Given the description of an element on the screen output the (x, y) to click on. 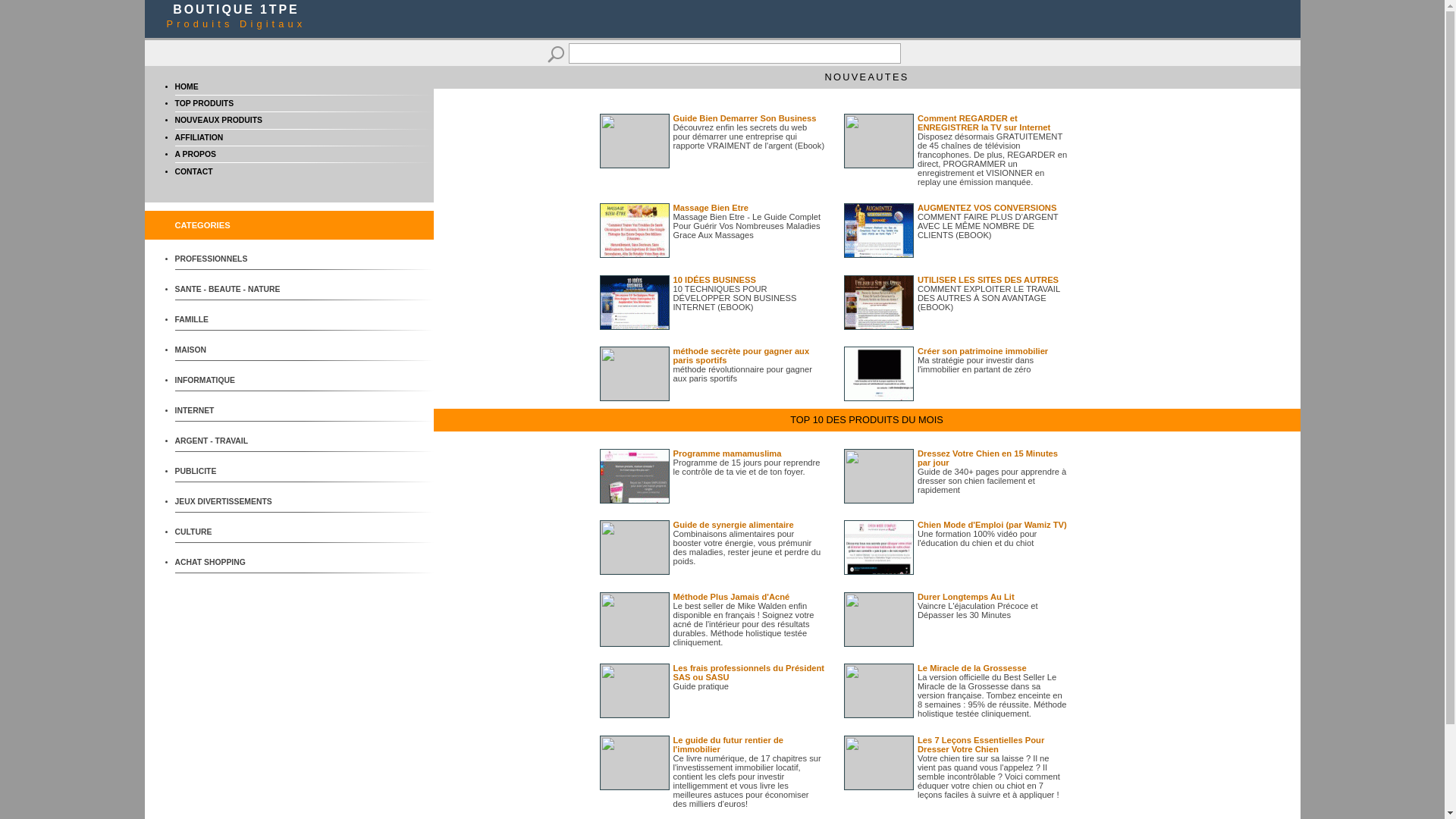
Massage Bien Etre Element type: text (711, 207)
ARGENT - TRAVAIL Element type: text (231, 440)
CULTURE Element type: text (231, 531)
Guide Bien Demarrer Son Business Element type: text (744, 117)
INFORMATIQUE Element type: text (231, 380)
AUGMENTEZ VOS CONVERSIONS Element type: text (986, 207)
SANTE - BEAUTE - NATURE Element type: text (231, 289)
A PROPOS Element type: text (194, 154)
Le Miracle de la Grossesse Element type: text (971, 667)
PROFESSIONNELS Element type: text (231, 258)
Chien Mode d'Emploi (par Wamiz TV) Element type: text (991, 524)
Guide pratique Element type: text (700, 685)
MAISON Element type: text (231, 349)
NOUVEAUX PRODUITS Element type: text (217, 120)
ACHAT SHOPPING Element type: text (231, 562)
FAMILLE Element type: text (231, 319)
Le guide du futur rentier de l'immobilier Element type: text (728, 744)
UTILISER LES SITES DES AUTRES Element type: text (987, 279)
Guide de synergie alimentaire Element type: text (733, 524)
Durer Longtemps Au Lit Element type: text (965, 596)
PUBLICITE Element type: text (231, 471)
Dressez Votre Chien en 15 Minutes par jour Element type: text (987, 457)
CONTACT Element type: text (193, 171)
JEUX DIVERTISSEMENTS Element type: text (231, 501)
Comment REGARDER et ENREGISTRER la TV sur Internet Element type: text (983, 122)
HOME Element type: text (185, 86)
INTERNET Element type: text (231, 410)
AFFILIATION Element type: text (198, 137)
TOP PRODUITS Element type: text (203, 103)
Programme mamamuslima Element type: text (727, 453)
